Given the description of an element on the screen output the (x, y) to click on. 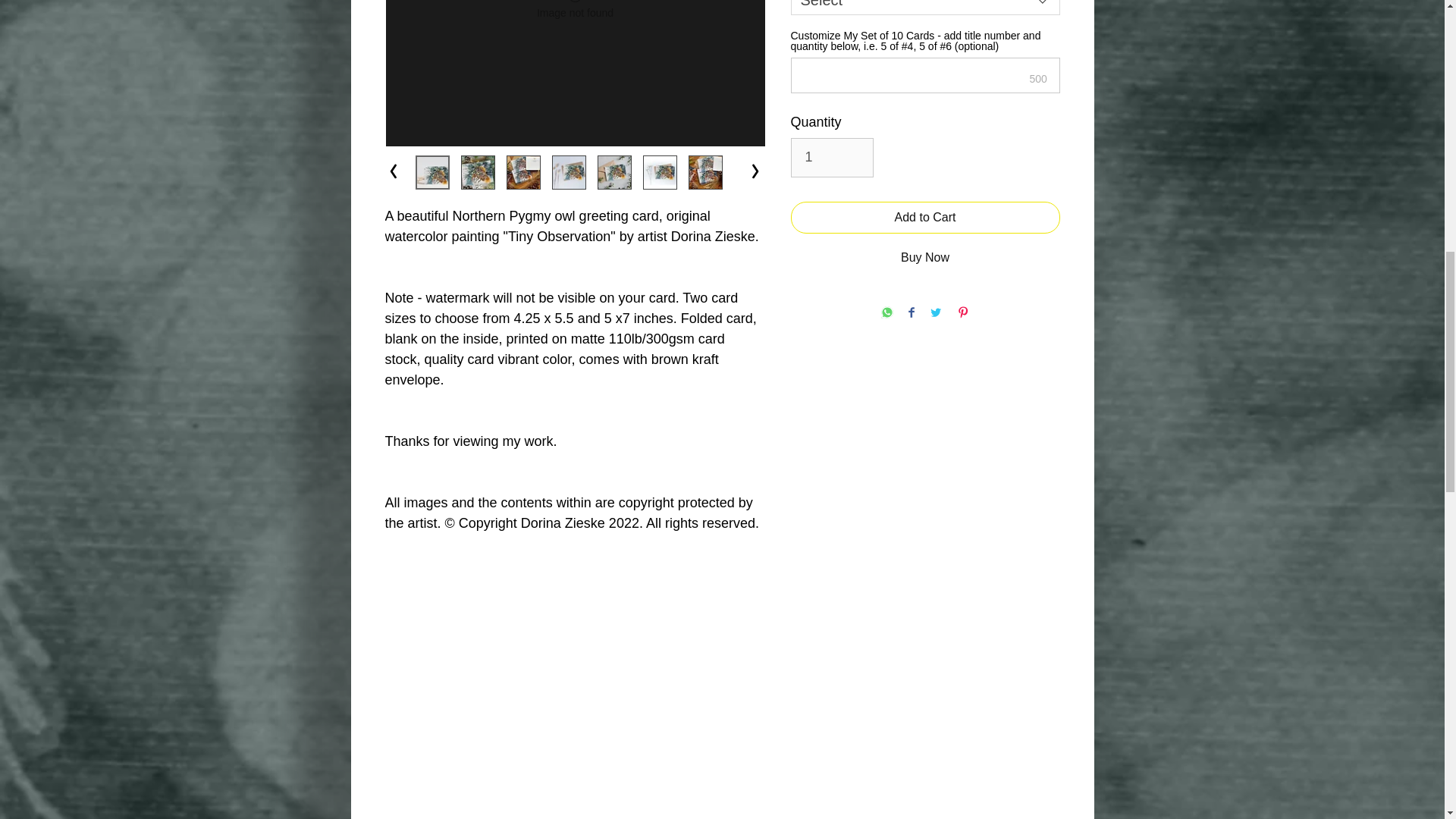
Buy Now (924, 257)
1 (831, 157)
Select (924, 7)
Add to Cart (924, 217)
